Given the description of an element on the screen output the (x, y) to click on. 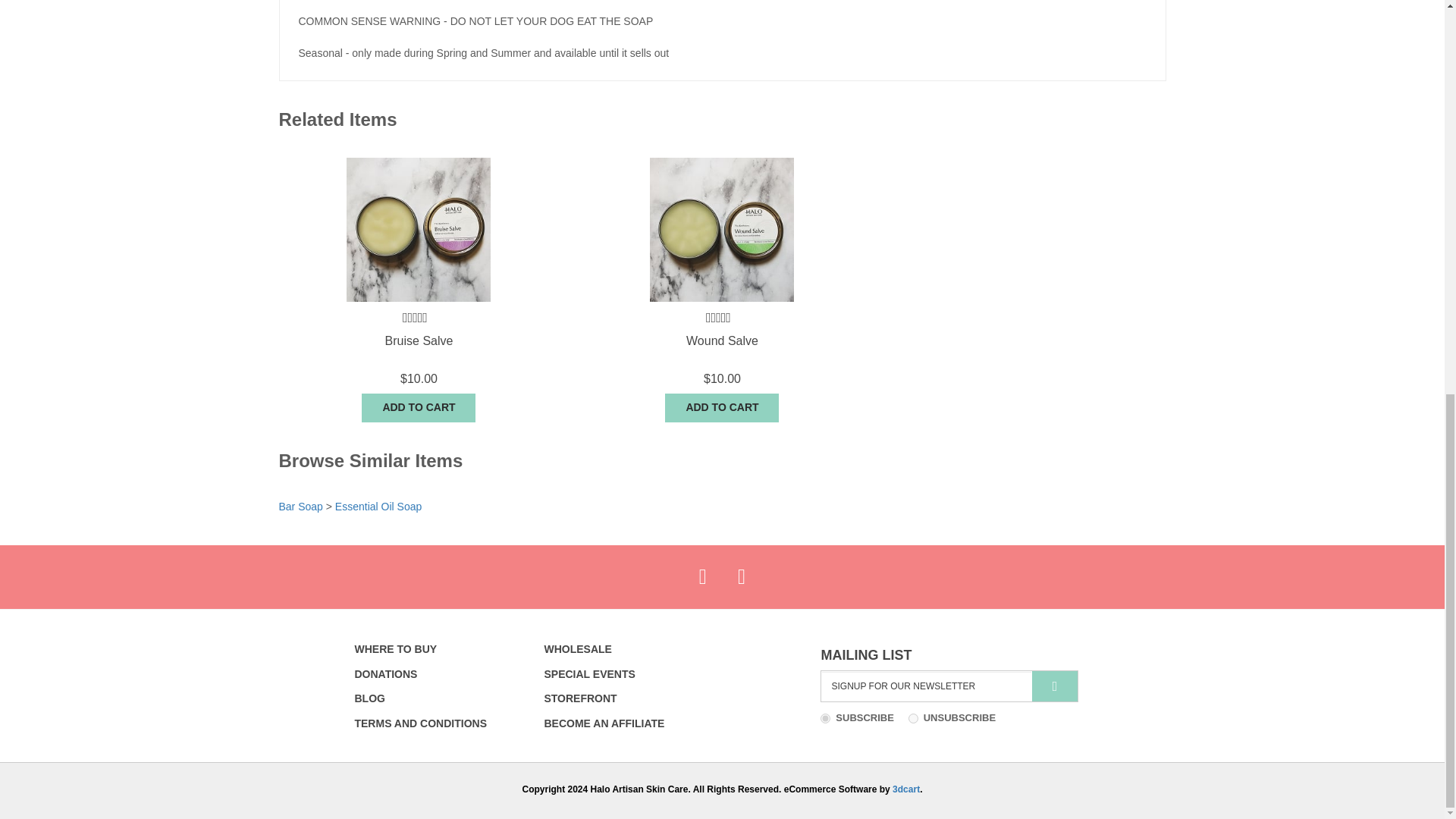
0 (913, 718)
Like Us on Facebook (702, 576)
Follow Us on Instagram (740, 576)
1 (825, 718)
